Given the description of an element on the screen output the (x, y) to click on. 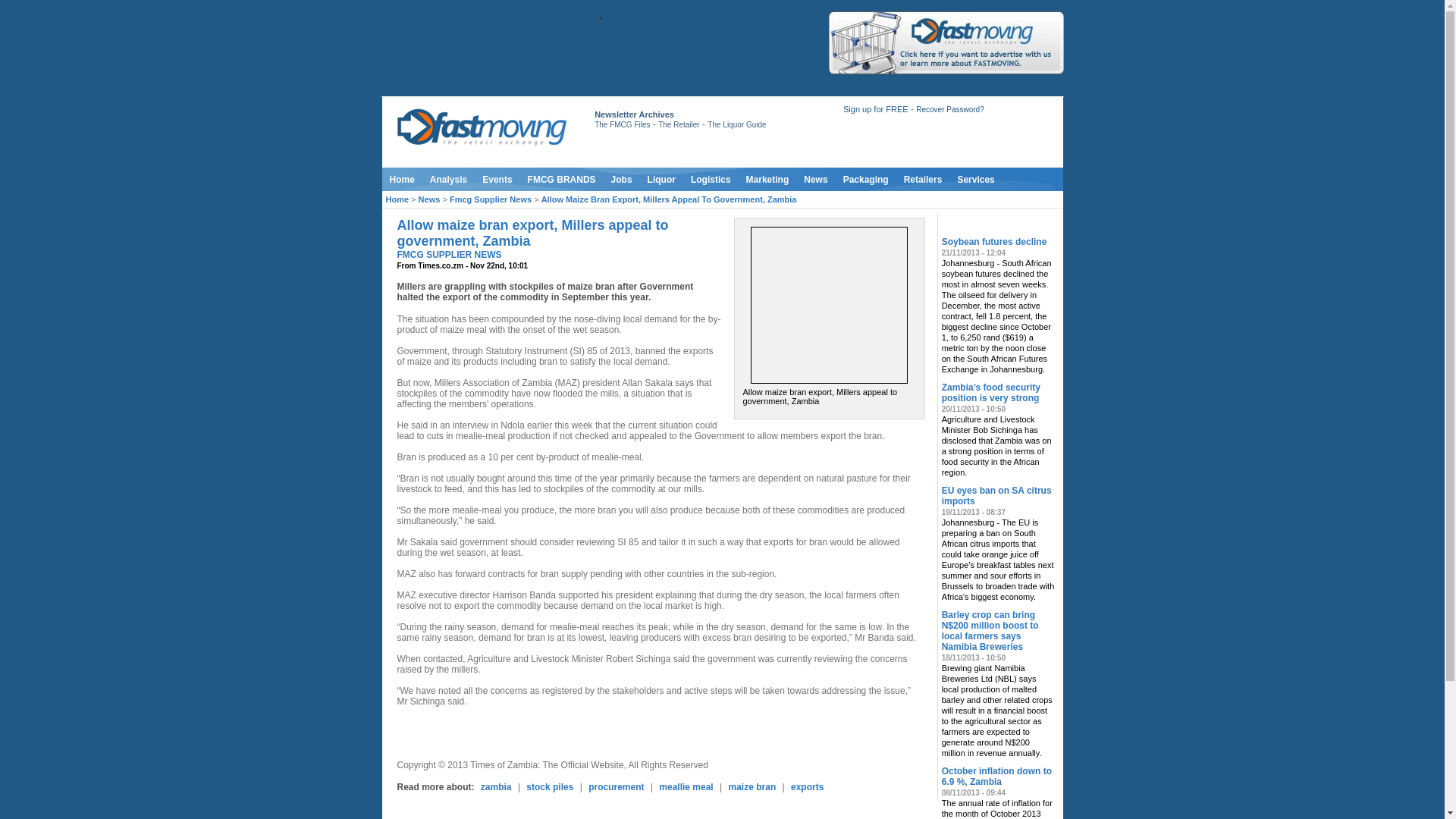
The FMCG Files Newsletter (621, 124)
The Liquor Guide (736, 124)
Analysis (448, 178)
Events (496, 178)
FMCG BRANDS (561, 178)
Sign up to Fastmoving.co.za (875, 108)
Click here to contact or advertise with Fastmoving.co.za (945, 42)
Analysis (448, 178)
Home (401, 178)
